Given the description of an element on the screen output the (x, y) to click on. 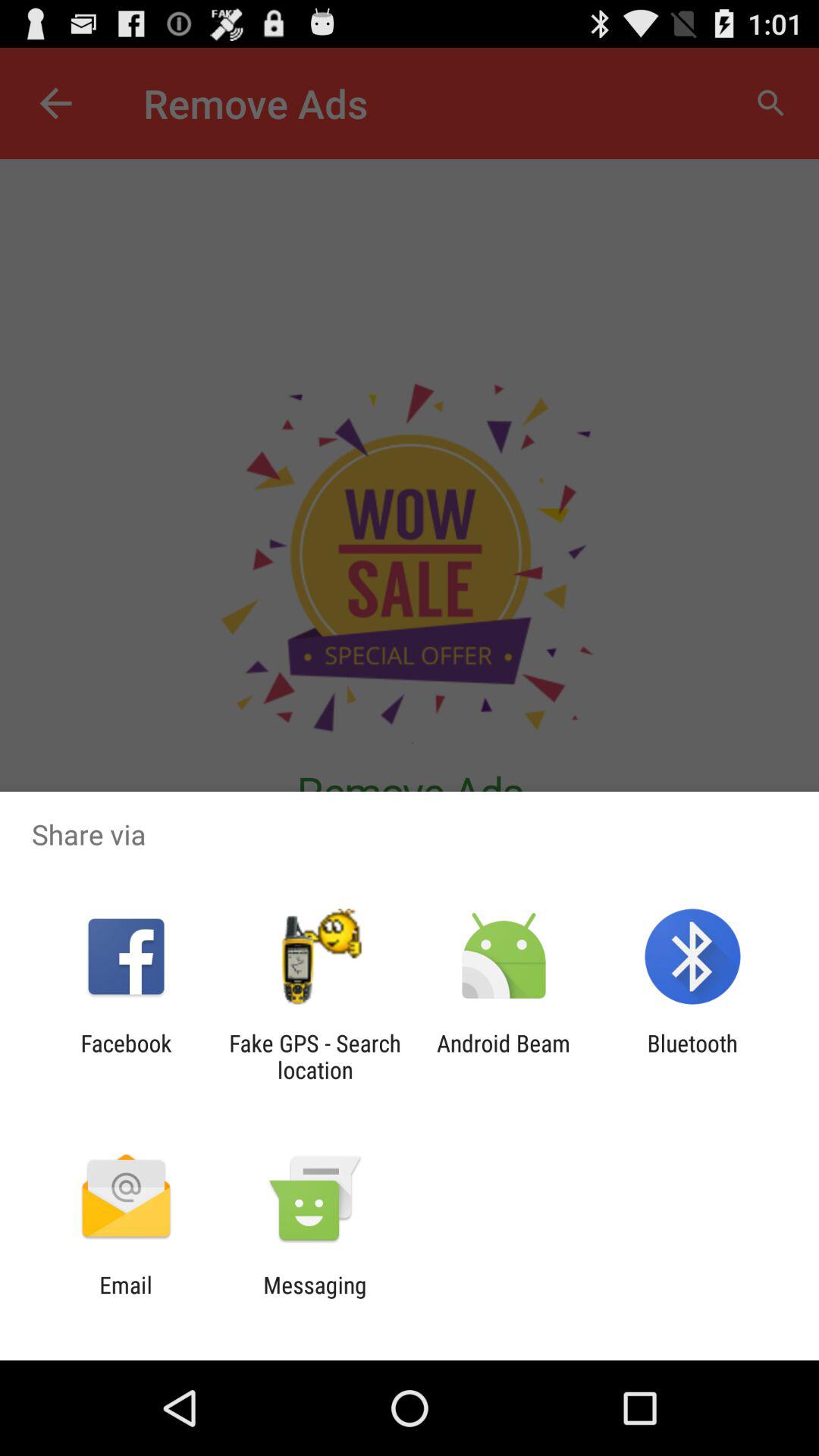
jump to messaging item (314, 1298)
